Given the description of an element on the screen output the (x, y) to click on. 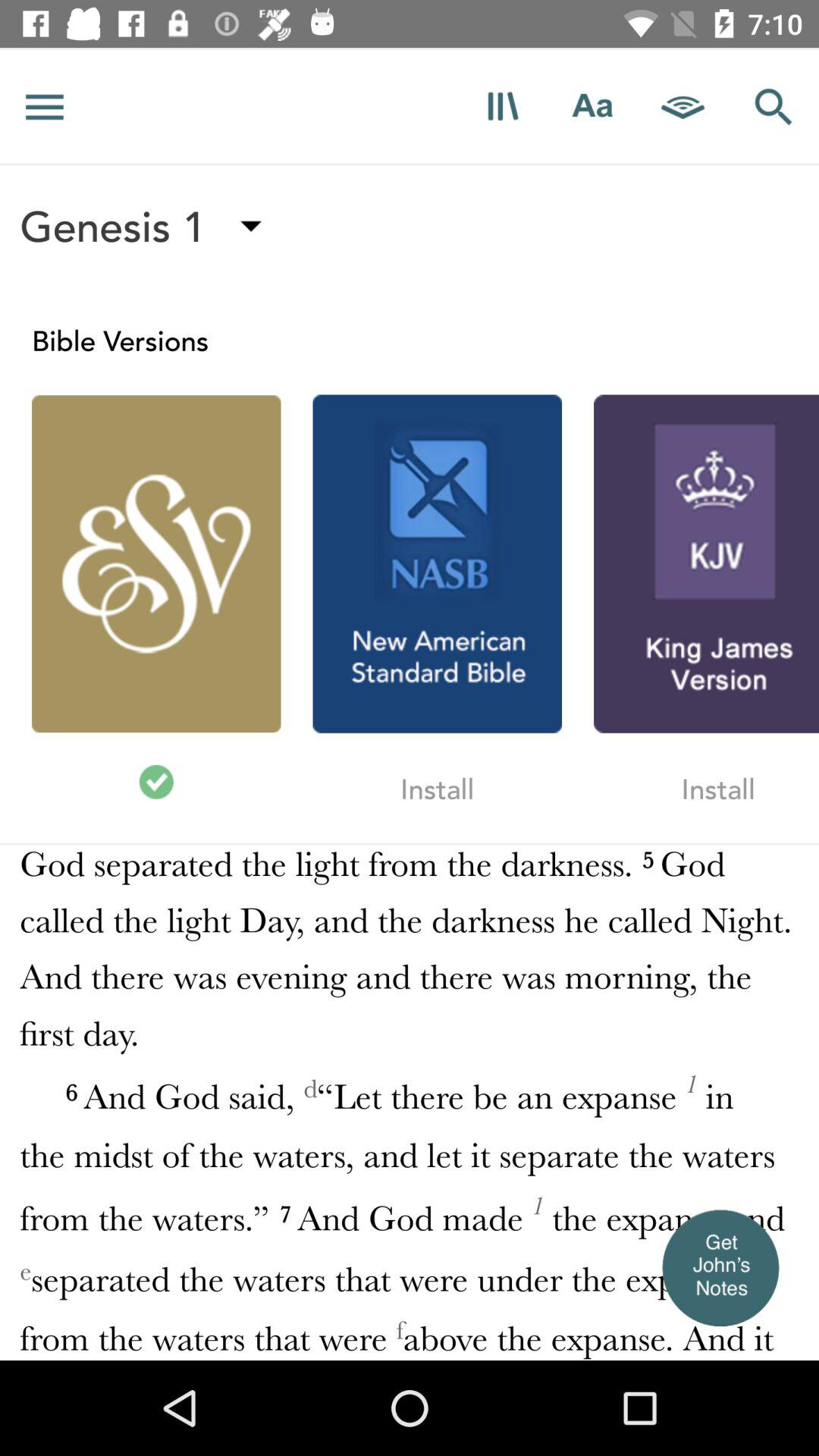
expand menu hamburger (45, 106)
